Given the description of an element on the screen output the (x, y) to click on. 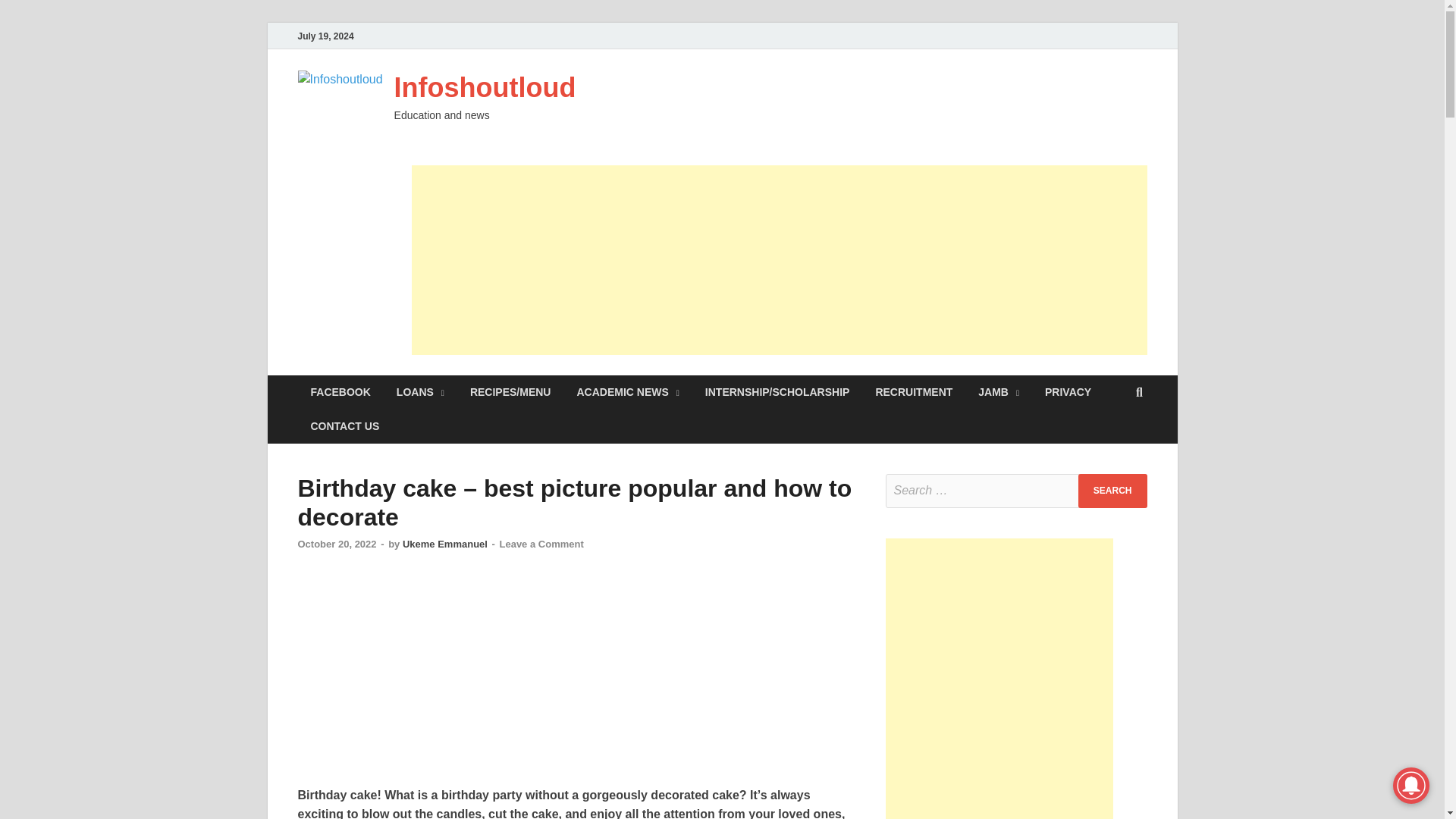
RECRUITMENT (913, 392)
Search (1112, 490)
CONTACT US (344, 426)
JAMB (998, 392)
FACEBOOK (339, 392)
Advertisement (575, 679)
Infoshoutloud (485, 87)
Search (1112, 490)
ACADEMIC NEWS (627, 392)
PRIVACY (1067, 392)
LOANS (420, 392)
